Given the description of an element on the screen output the (x, y) to click on. 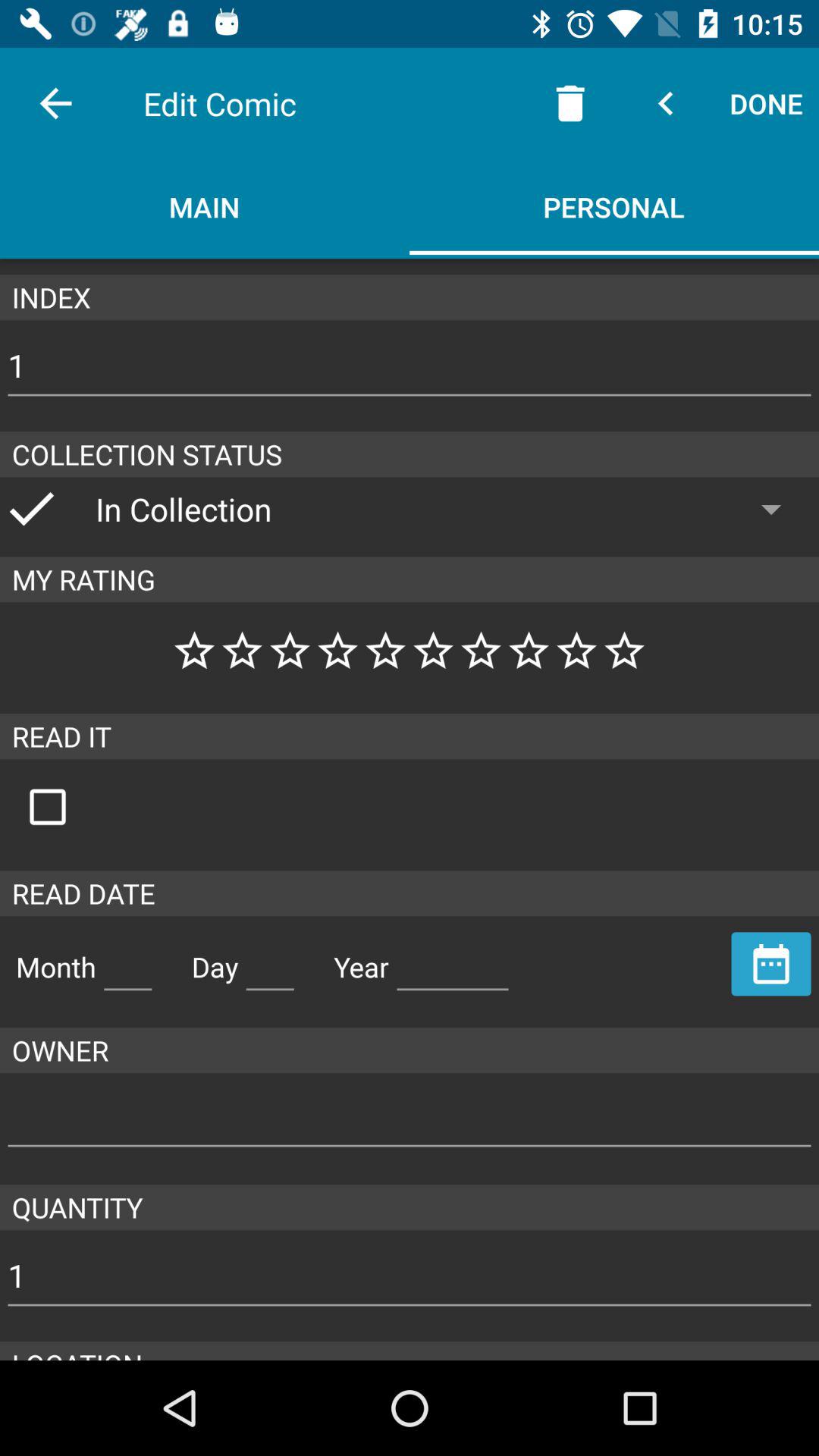
open calendar (771, 963)
